Given the description of an element on the screen output the (x, y) to click on. 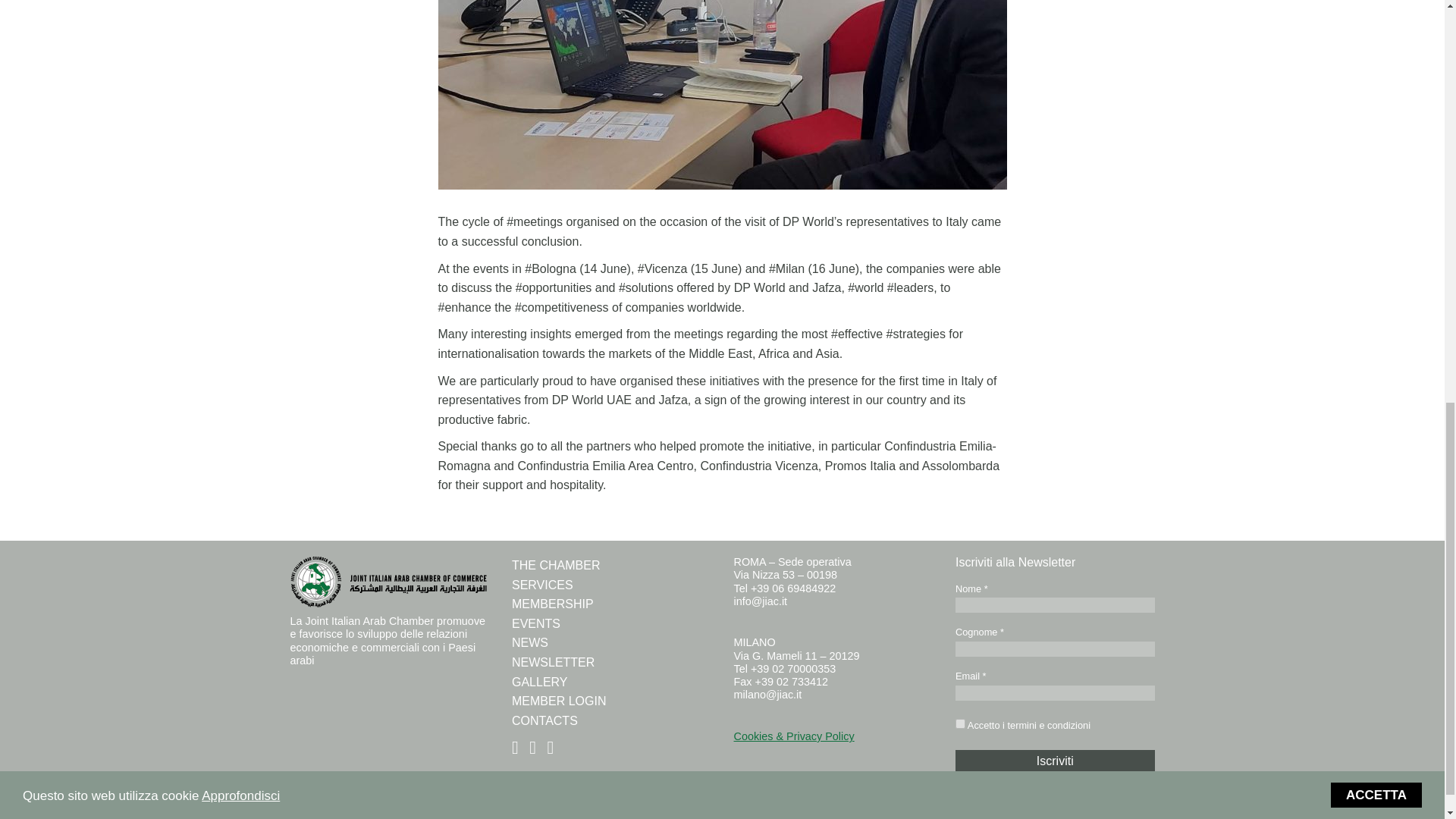
Nome (1054, 604)
Iscriviti (1054, 761)
Cognome (1054, 648)
on (960, 723)
Email (1054, 693)
